Given the description of an element on the screen output the (x, y) to click on. 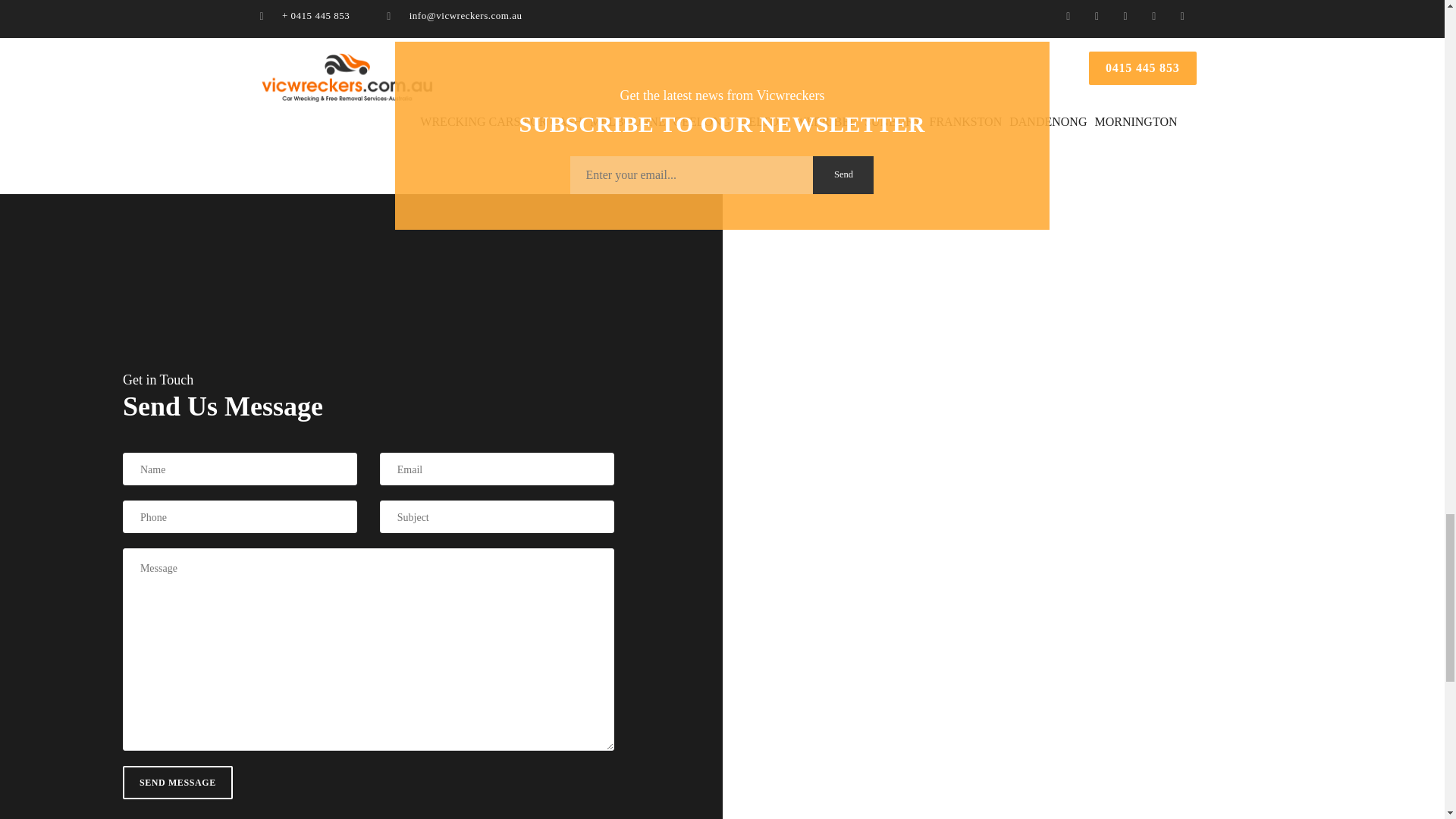
Send (842, 175)
Send Message (177, 782)
